Given the description of an element on the screen output the (x, y) to click on. 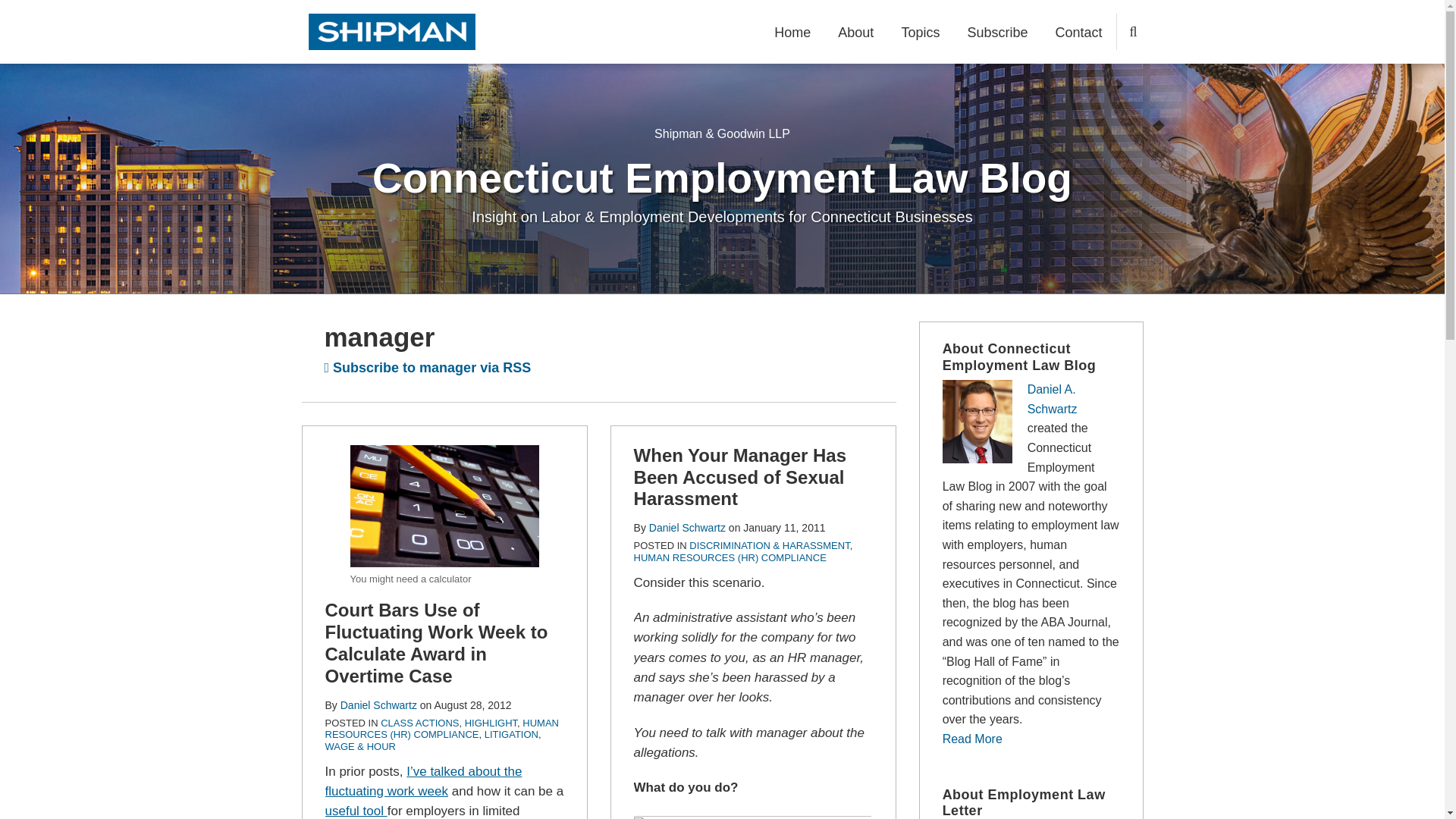
Connecticut Employment Law Blog (721, 177)
Daniel Schwartz (378, 705)
Read More (972, 738)
Subscribe to manager via RSS (427, 367)
Daniel A. Schwartz (1052, 399)
About (855, 32)
Home (792, 32)
When Your Manager Has Been Accused of Sexual Harassment (740, 477)
useful tool (355, 810)
